Given the description of an element on the screen output the (x, y) to click on. 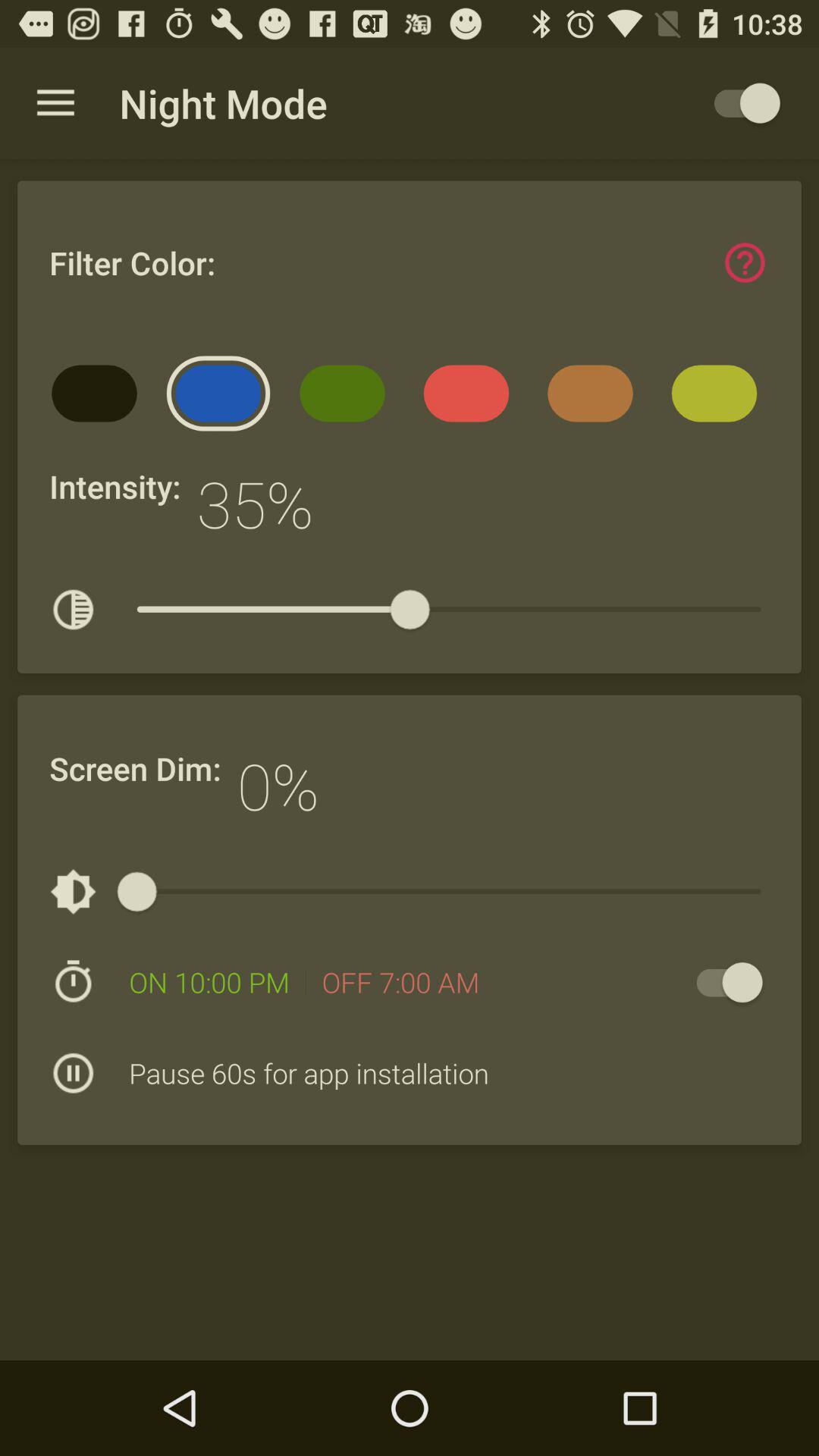
turn off the item to the right of the filter color: item (744, 262)
